Given the description of an element on the screen output the (x, y) to click on. 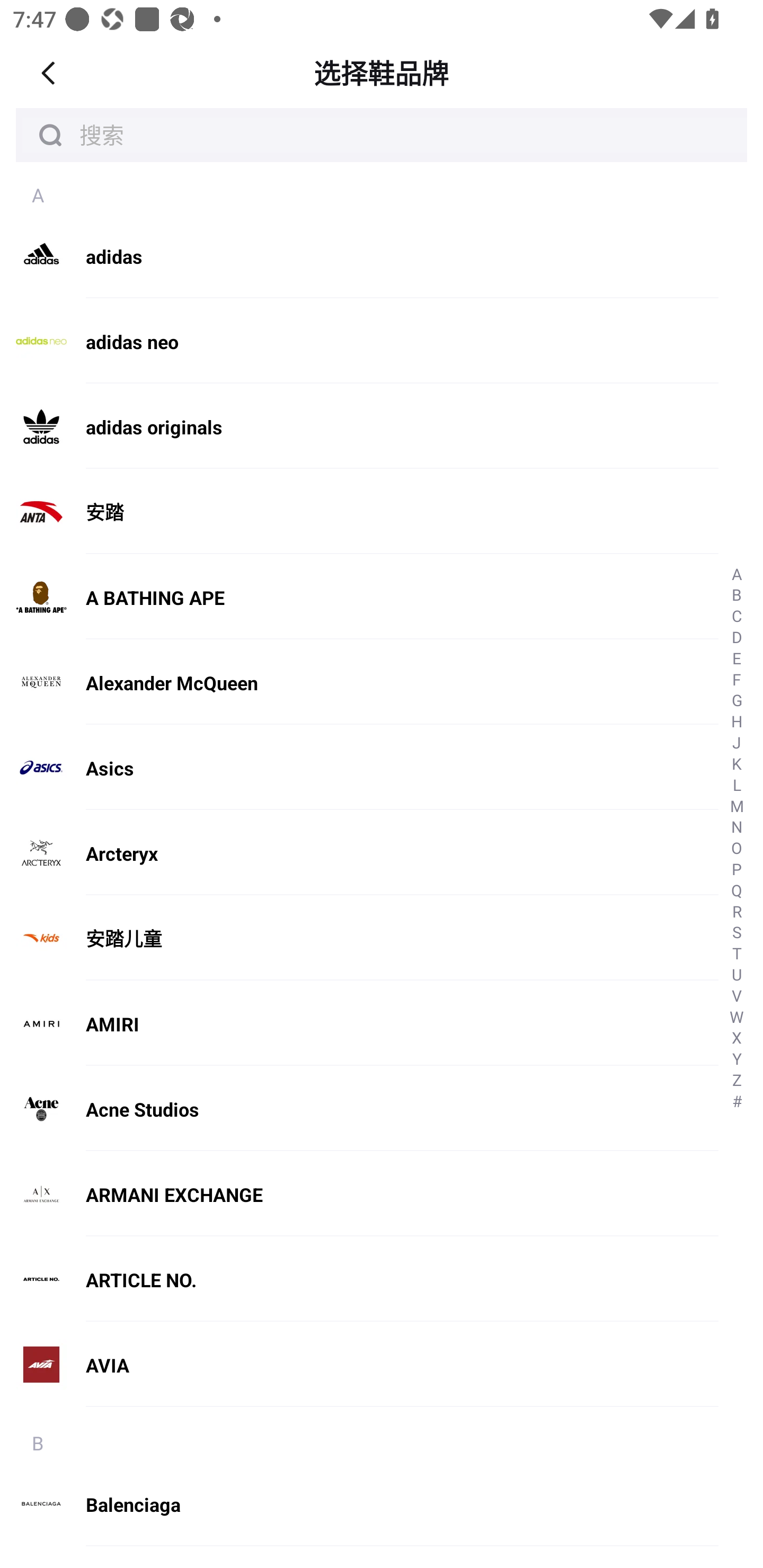
搜索 (381, 134)
adidas (359, 255)
adidas neo (359, 341)
adidas originals (359, 426)
安踏 (359, 511)
A BATHING APE (359, 597)
Alexander McQueen (359, 682)
Asics (359, 767)
Arcteryx (359, 853)
安踏儿童 (359, 938)
AMIRI (359, 1023)
Acne Studios (359, 1108)
ARMANI EXCHANGE (359, 1194)
ARTICLE NO. (359, 1279)
AVIA (359, 1372)
Balenciaga (359, 1504)
